Given the description of an element on the screen output the (x, y) to click on. 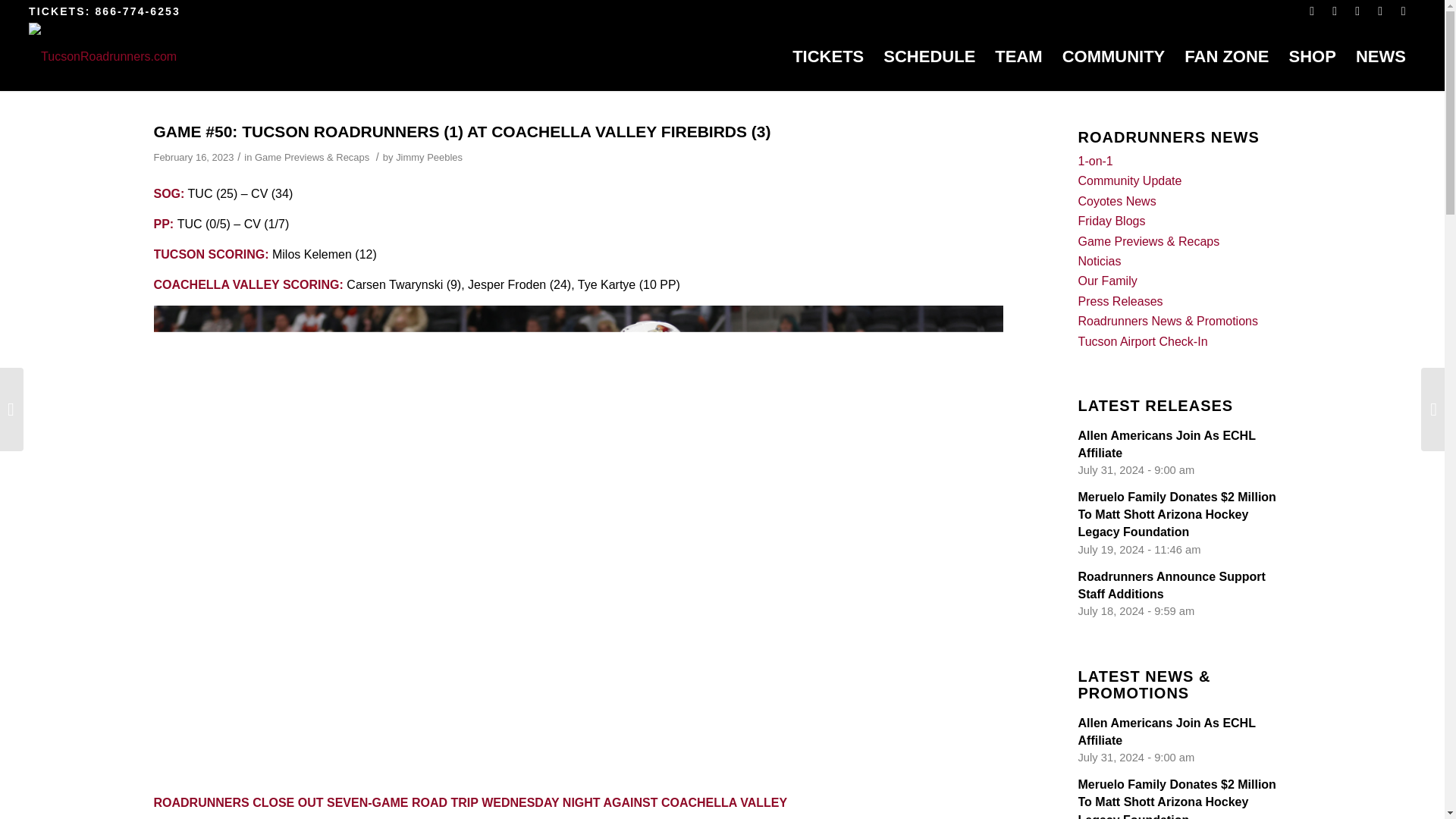
FAN ZONE (1226, 56)
COMMUNITY (1113, 56)
Posts by Jimmy Peebles (429, 156)
866-774-6253 (136, 10)
TEAM (1018, 56)
TICKETS (828, 56)
SCHEDULE (929, 56)
Mail (1404, 11)
Facebook (1312, 11)
NEWS (1380, 56)
